Given the description of an element on the screen output the (x, y) to click on. 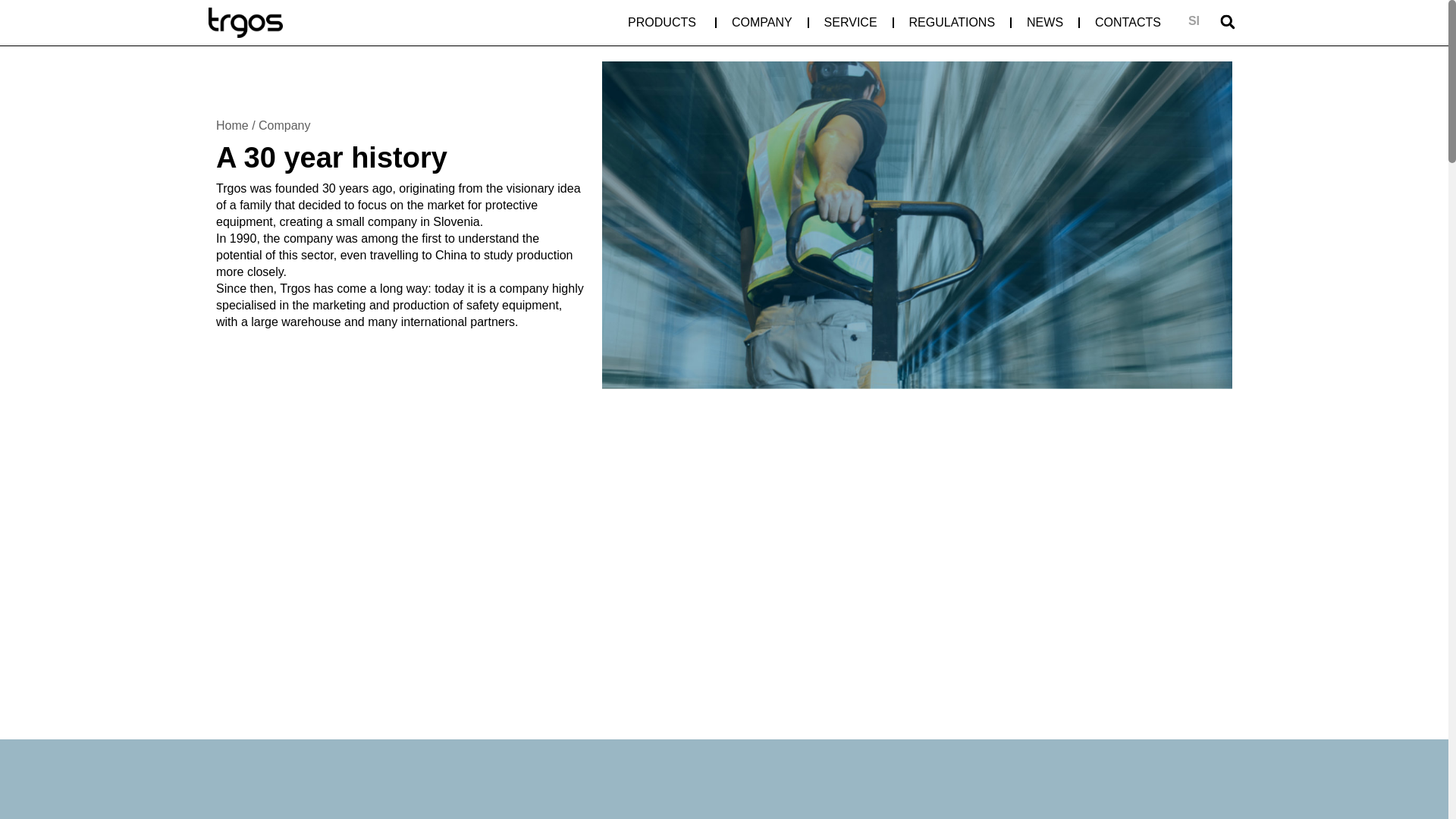
PRODUCTS (661, 22)
SERVICE (850, 22)
REGULATIONS (951, 22)
COMPANY (762, 22)
NEWS (1044, 22)
CONTACTS (1127, 22)
Home (231, 124)
